Given the description of an element on the screen output the (x, y) to click on. 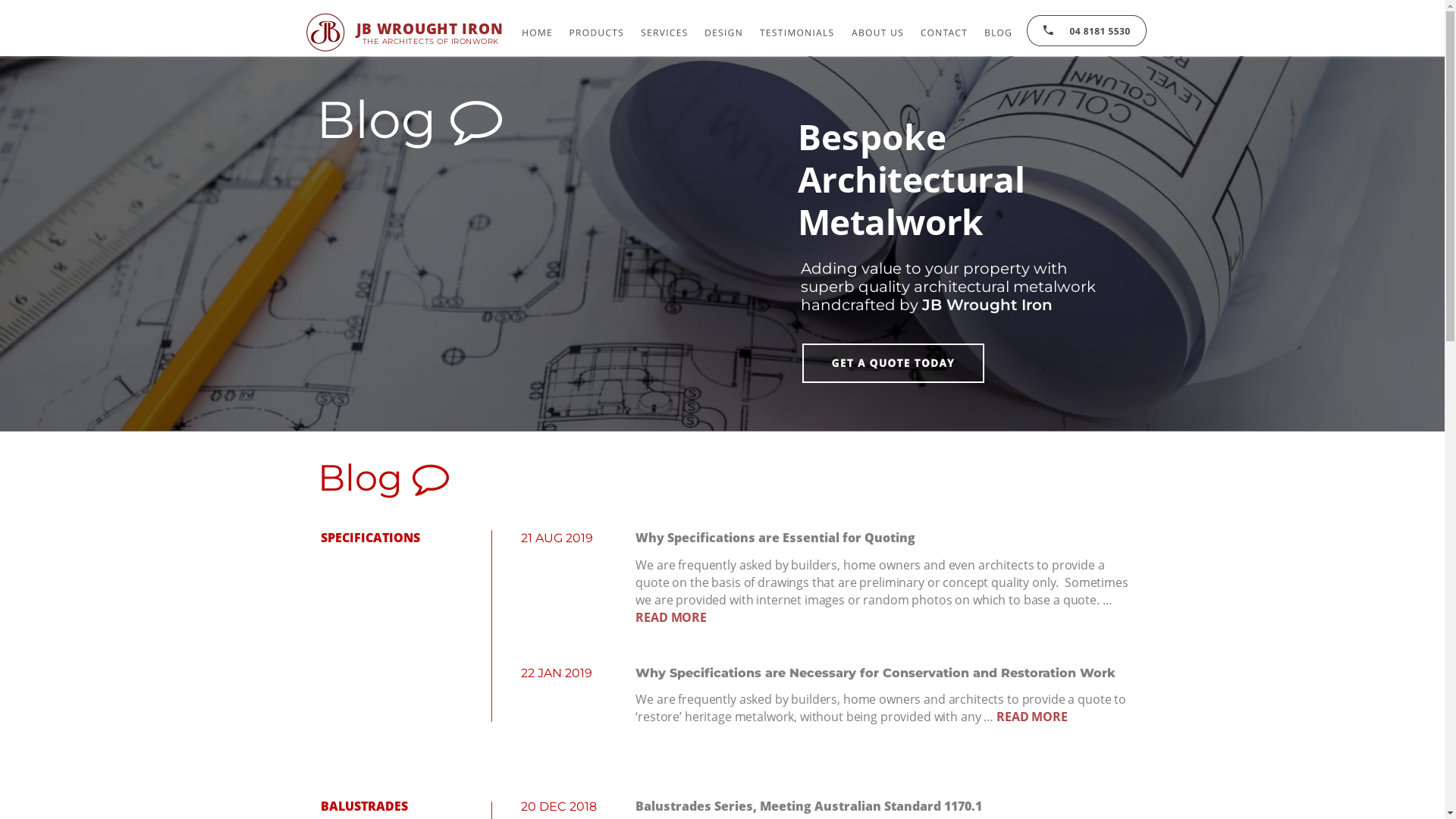
READ MORE Element type: text (670, 616)
JB WROUGHT IRON Element type: text (429, 28)
READ MORE Element type: text (1031, 716)
